Given the description of an element on the screen output the (x, y) to click on. 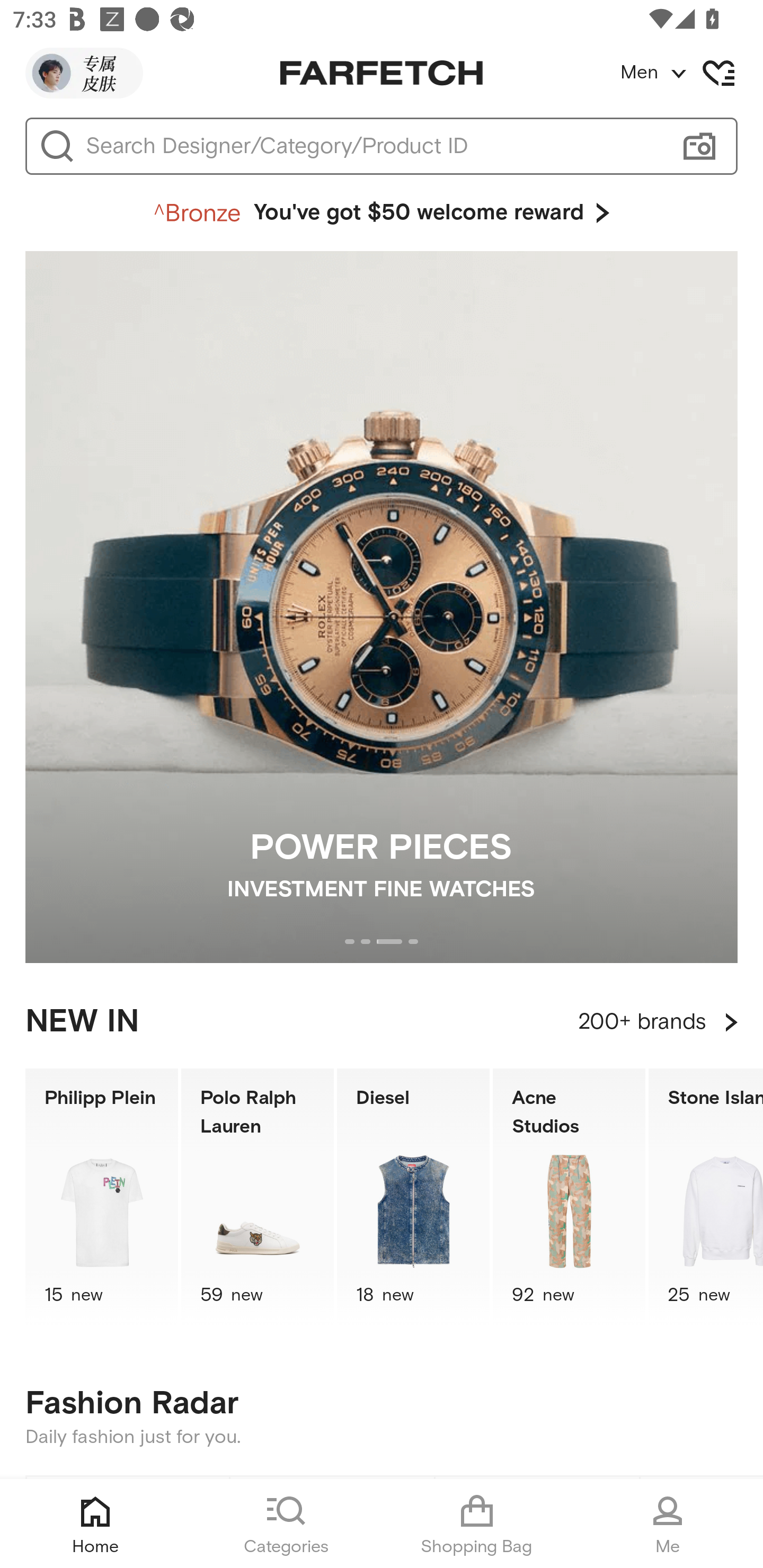
Men (691, 72)
Search Designer/Category/Product ID (373, 146)
You've got $50 welcome reward (381, 213)
NEW IN 200+ brands (381, 1021)
Philipp Plein 15  new (101, 1196)
Polo Ralph Lauren 59  new (257, 1196)
Diesel 18  new (413, 1196)
Acne Studios 92  new (568, 1196)
Stone Island 25  new (705, 1196)
Sale (127, 1522)
Deal (332, 1522)
Quiet (537, 1522)
Vacation (701, 1522)
